Given the description of an element on the screen output the (x, y) to click on. 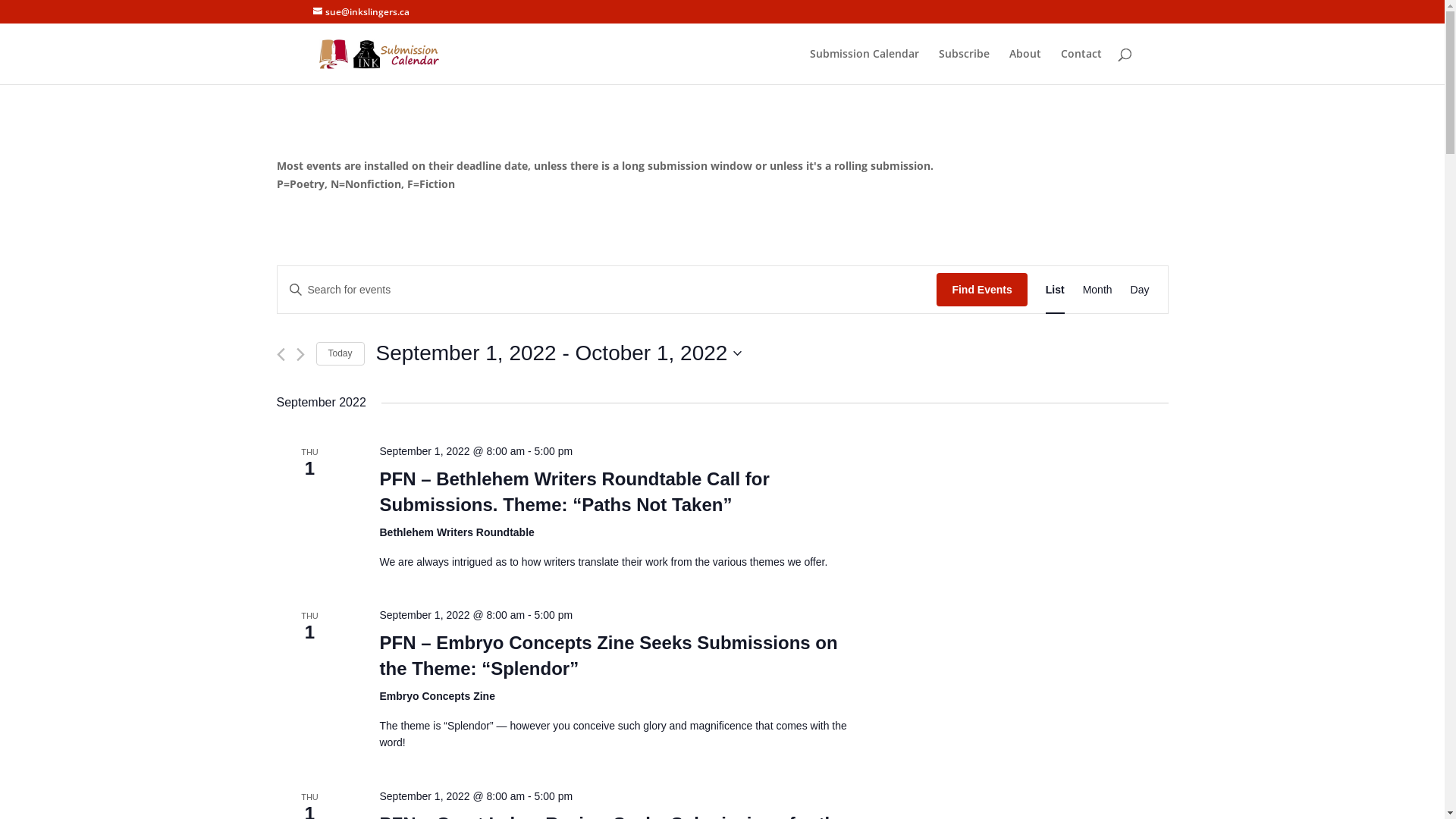
About Element type: text (1024, 66)
Today Element type: text (339, 353)
Next Events Element type: hover (299, 354)
Submission Calendar Element type: text (864, 66)
sue@inkslingers.ca Element type: text (360, 11)
Month Element type: text (1097, 289)
Day Element type: text (1139, 289)
List Element type: text (1054, 289)
Find Events Element type: text (981, 290)
Contact Element type: text (1080, 66)
Previous Events Element type: hover (280, 354)
Subscribe Element type: text (963, 66)
September 1, 2022
 - 
October 1, 2022 Element type: text (559, 353)
